Given the description of an element on the screen output the (x, y) to click on. 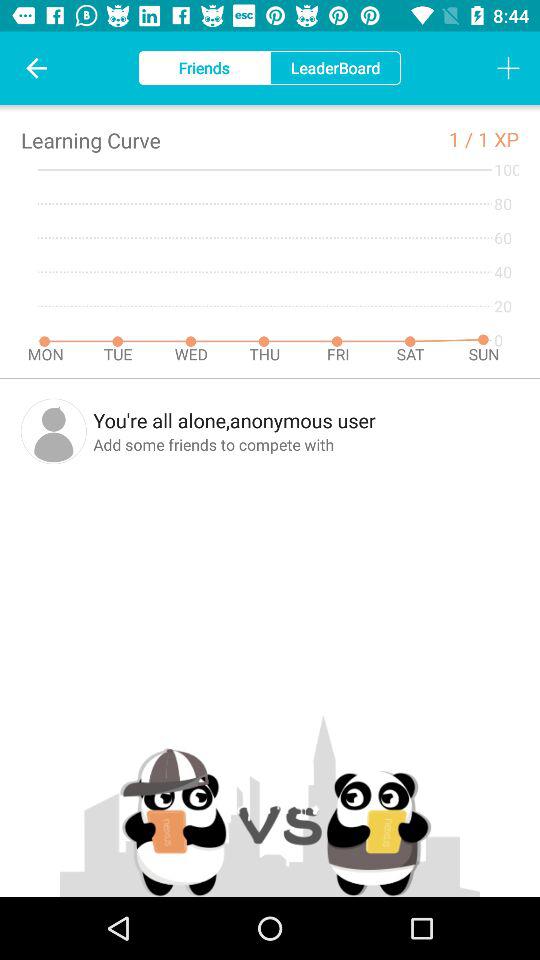
jump to learning curve (90, 139)
